Given the description of an element on the screen output the (x, y) to click on. 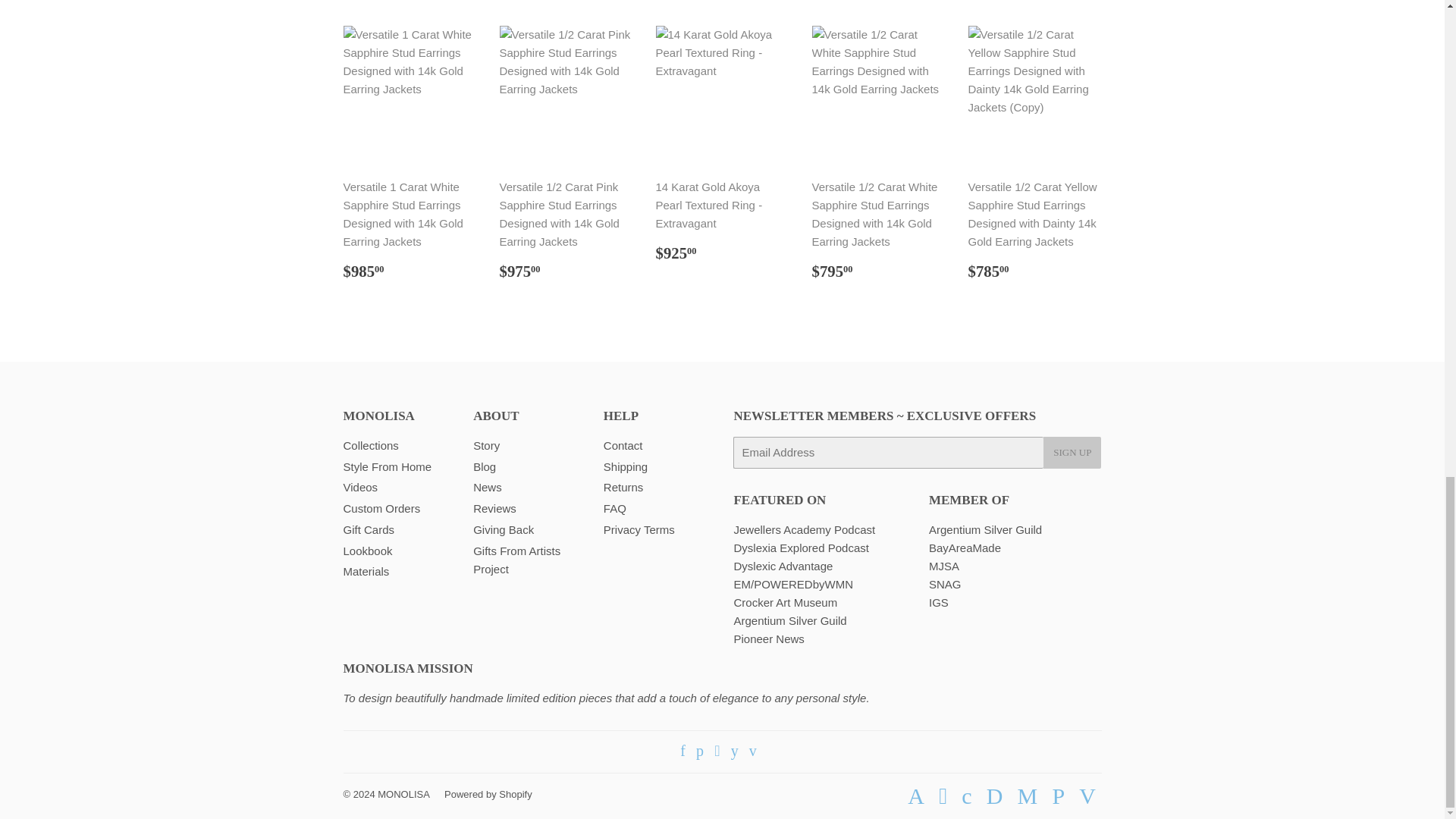
MONOLISA on Vimeo (753, 751)
Dyslexia Advantage (782, 565)
The Pioneer Newspaper - Clayton, Concord and Pleasant Hill (768, 638)
MONOLISA on Instagram (716, 751)
MONOLISA Member of SNAG Organization (944, 584)
MONOLISA on YouTube (734, 751)
MONOLISA on Pinterest (699, 751)
MONOLISA on Facebook (682, 751)
MONOLISA is a member of MJSA (943, 565)
Dyslexia Explored Podcast (800, 547)
Member of IGS - International Gem Society  (938, 602)
